Given the description of an element on the screen output the (x, y) to click on. 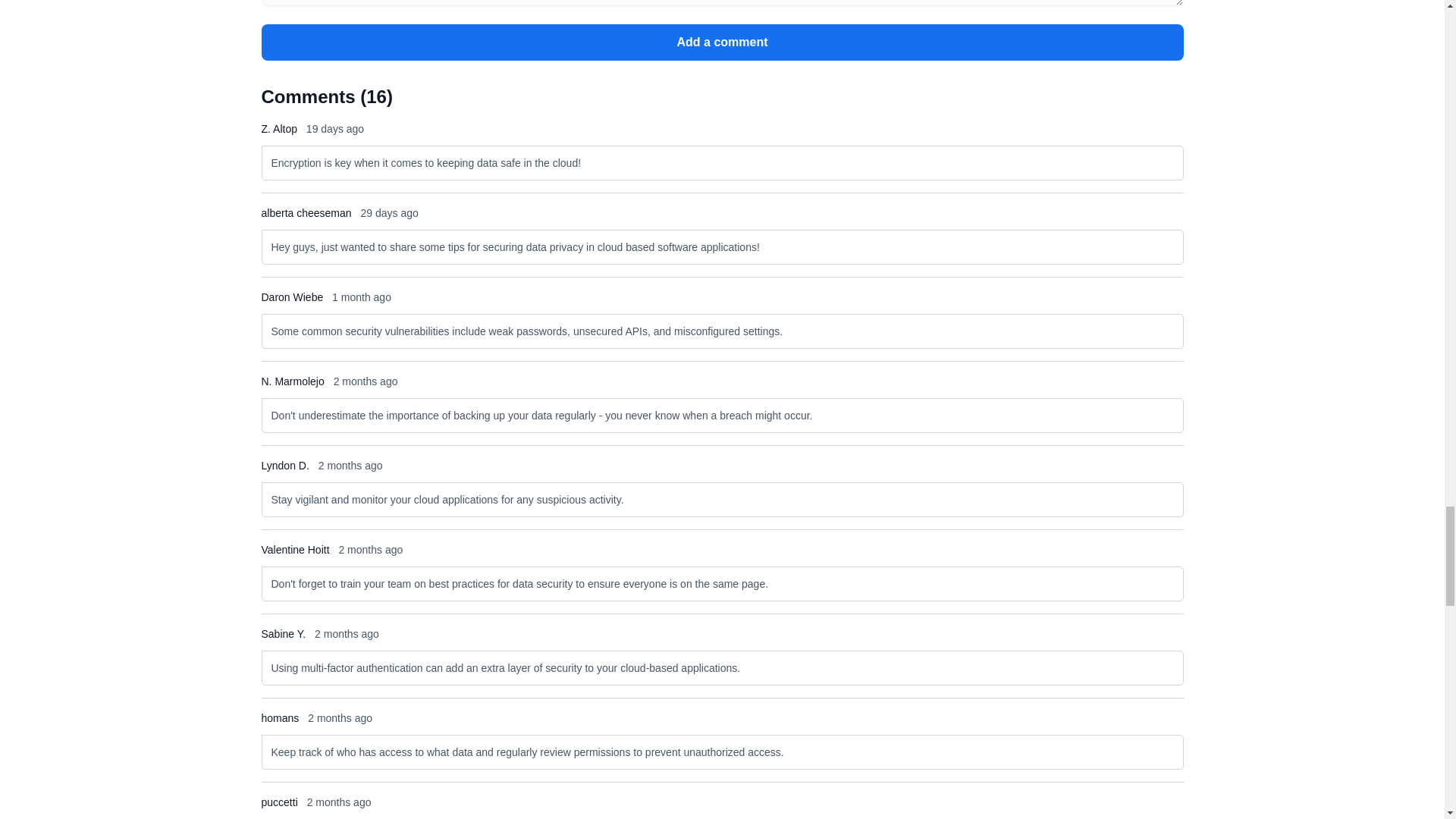
Add a comment (721, 42)
